Given the description of an element on the screen output the (x, y) to click on. 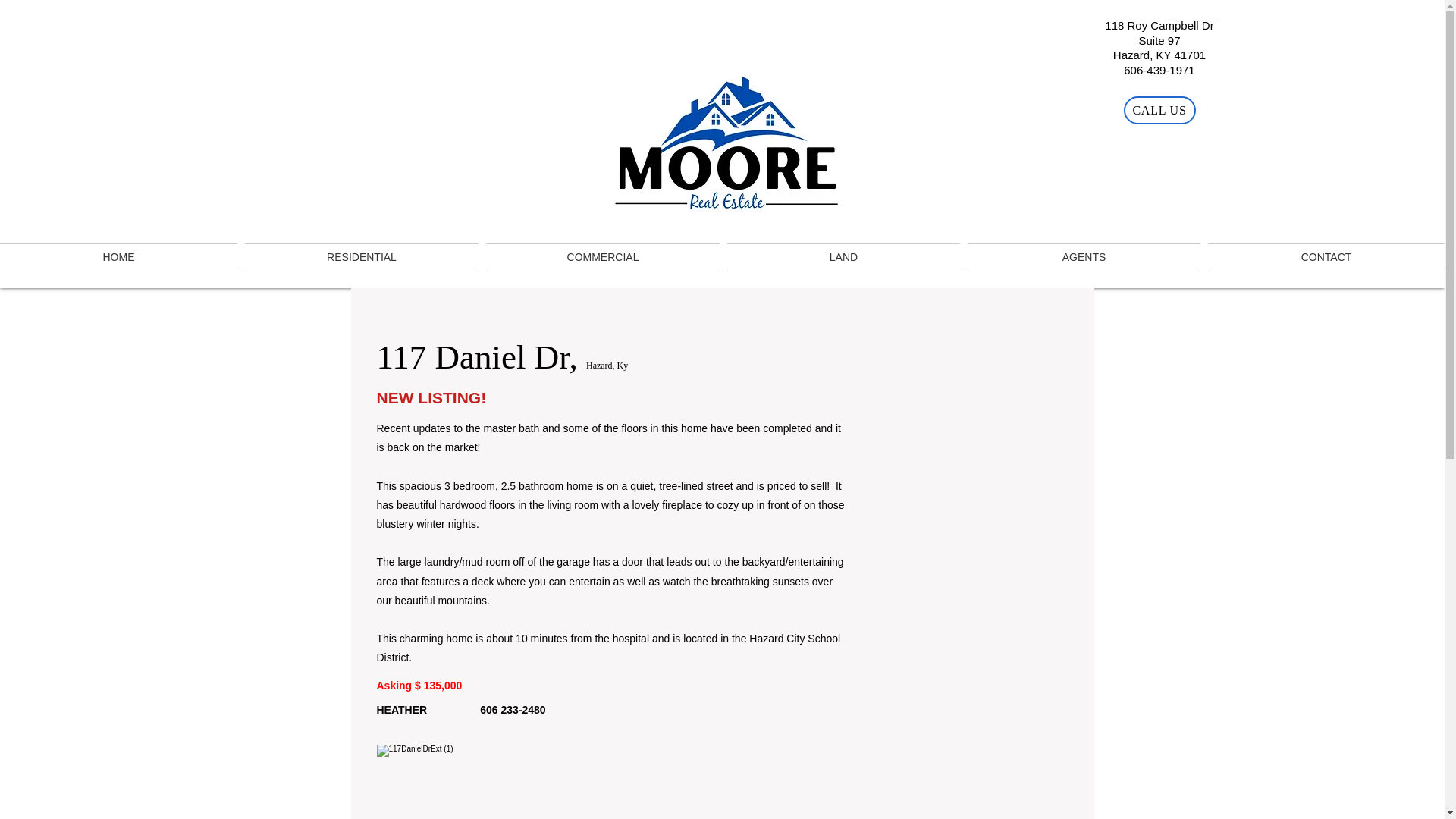
HOME (120, 257)
COMMERCIAL (602, 257)
CALL US (1159, 110)
RESIDENTIAL (361, 257)
AGENTS (1083, 257)
LAND (843, 257)
